Given the description of an element on the screen output the (x, y) to click on. 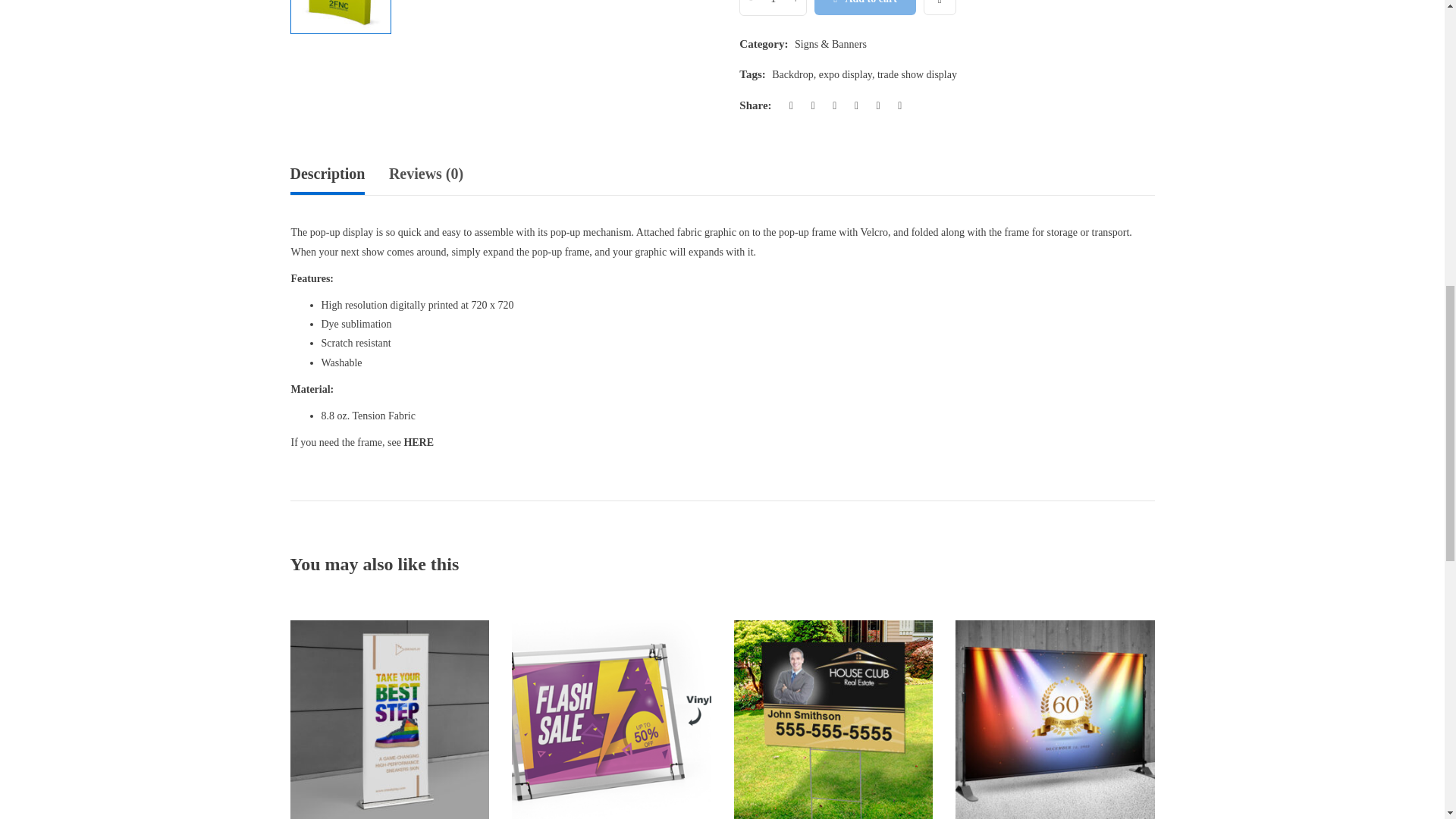
- (750, 7)
Qty (773, 7)
1 (773, 7)
